Given the description of an element on the screen output the (x, y) to click on. 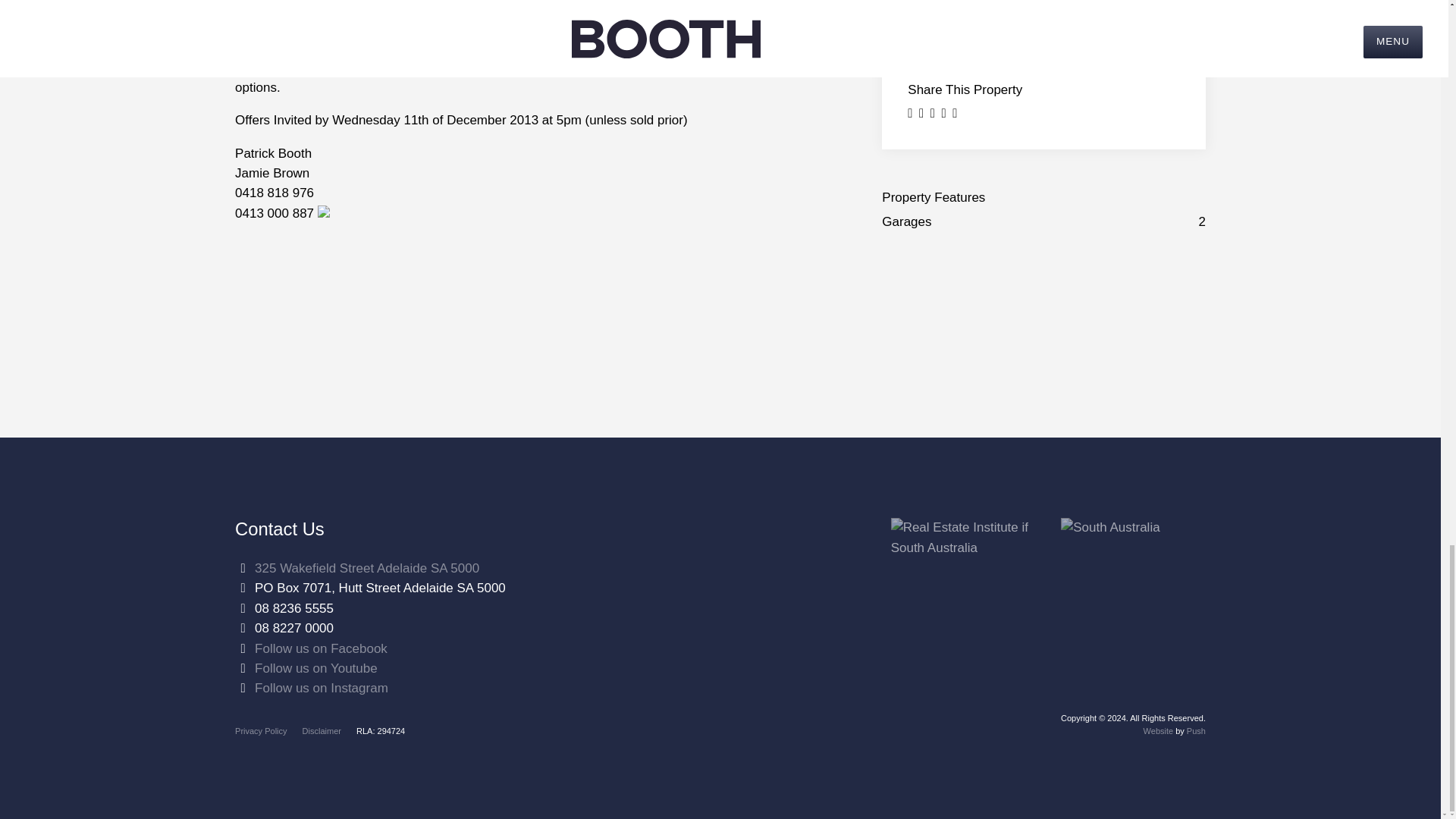
Follow us on Youtube (315, 667)
Follow us on Facebook (320, 648)
Privacy Policy (260, 730)
Disclaimer (321, 730)
Follow us on Instagram (321, 687)
325 Wakefield Street Adelaide SA 5000 (366, 568)
